Given the description of an element on the screen output the (x, y) to click on. 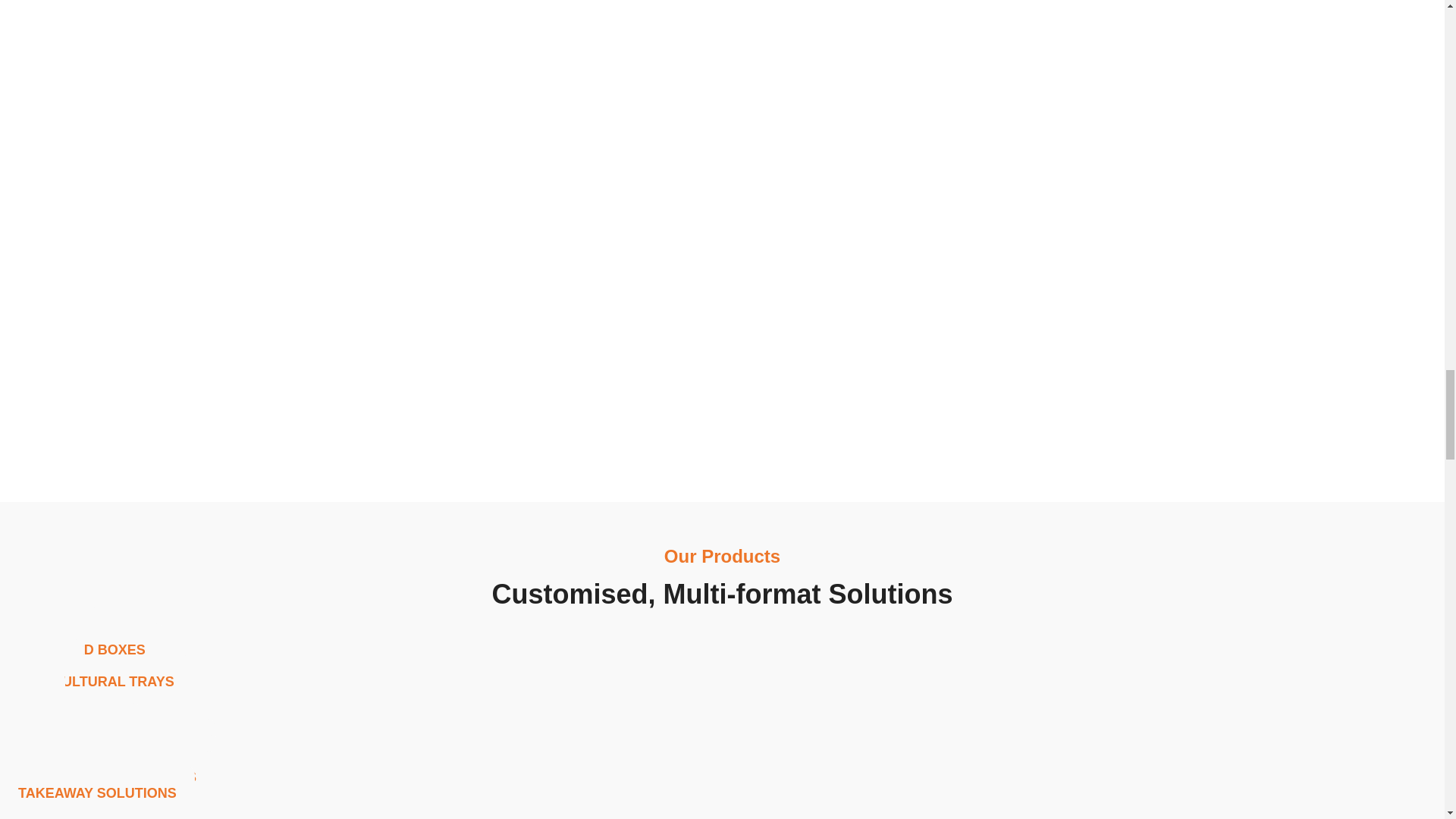
Main page 9 (13, 716)
Main page 15 (32, 812)
Main page 11 (48, 748)
Main page 12 (64, 764)
Main page 14 (40, 796)
Main page 5 (45, 653)
Main page 7 (40, 684)
Main page 6 (54, 668)
Main page 13 (69, 780)
Main page 10 (42, 732)
